Given the description of an element on the screen output the (x, y) to click on. 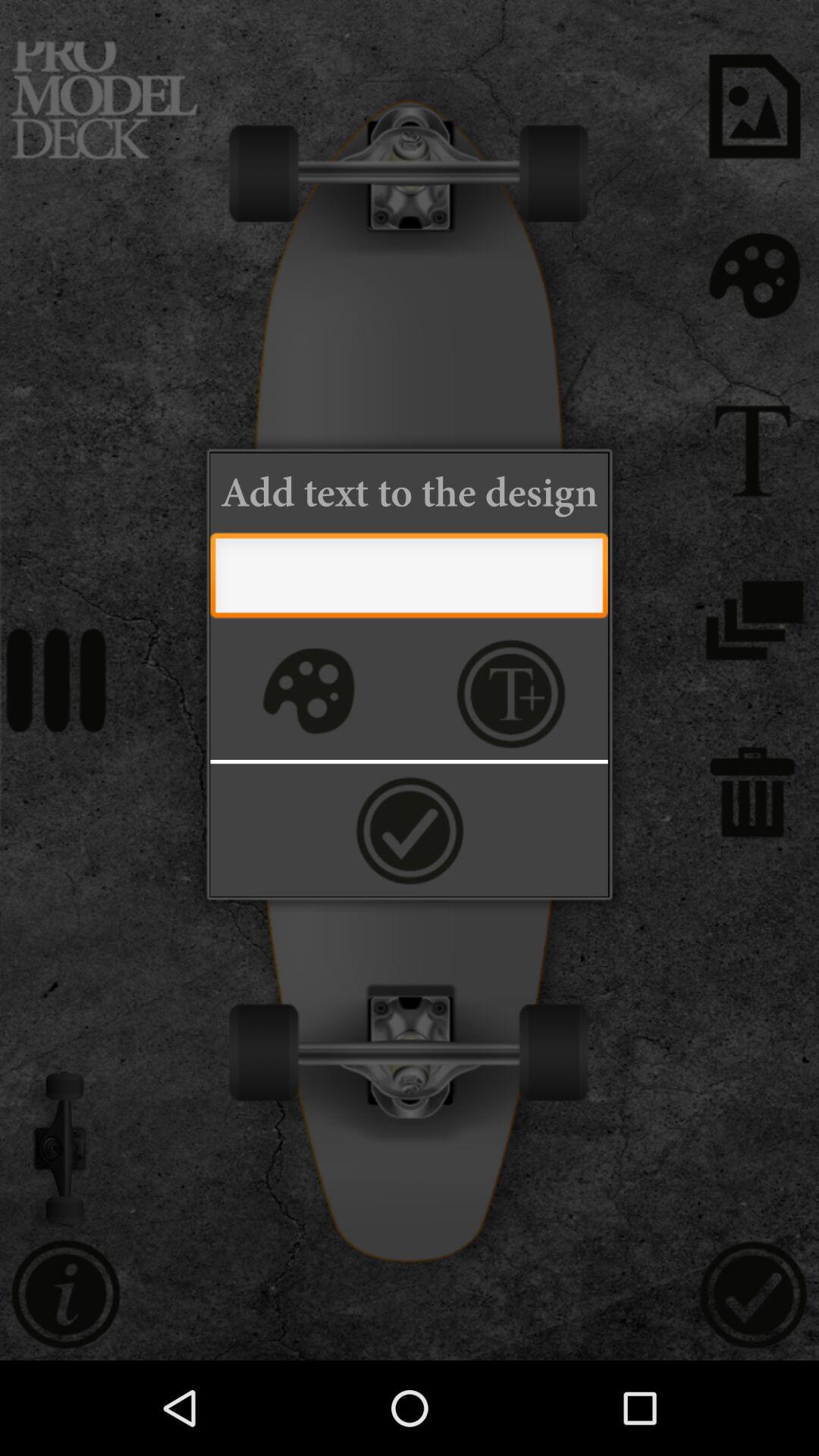
type the text (408, 579)
